Given the description of an element on the screen output the (x, y) to click on. 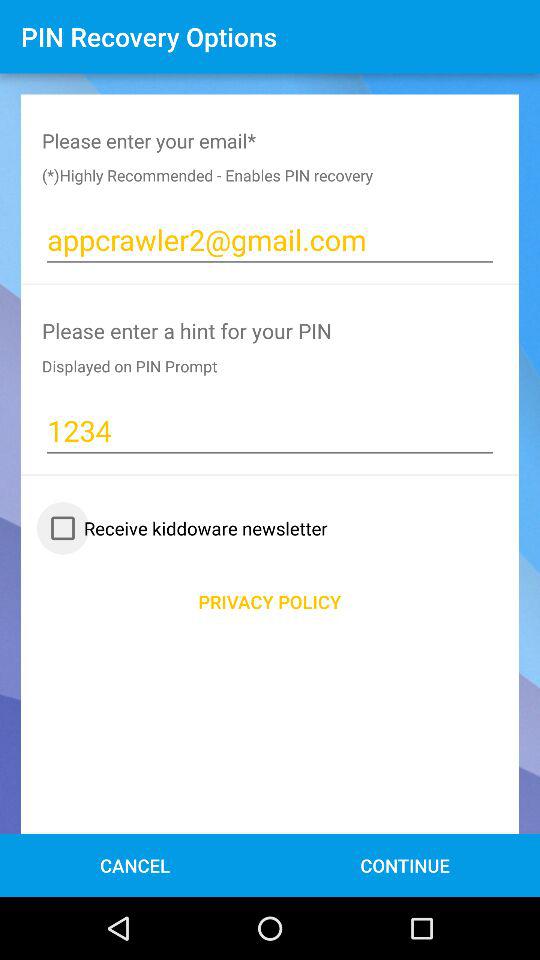
tap the item to the left of continue item (134, 864)
